Given the description of an element on the screen output the (x, y) to click on. 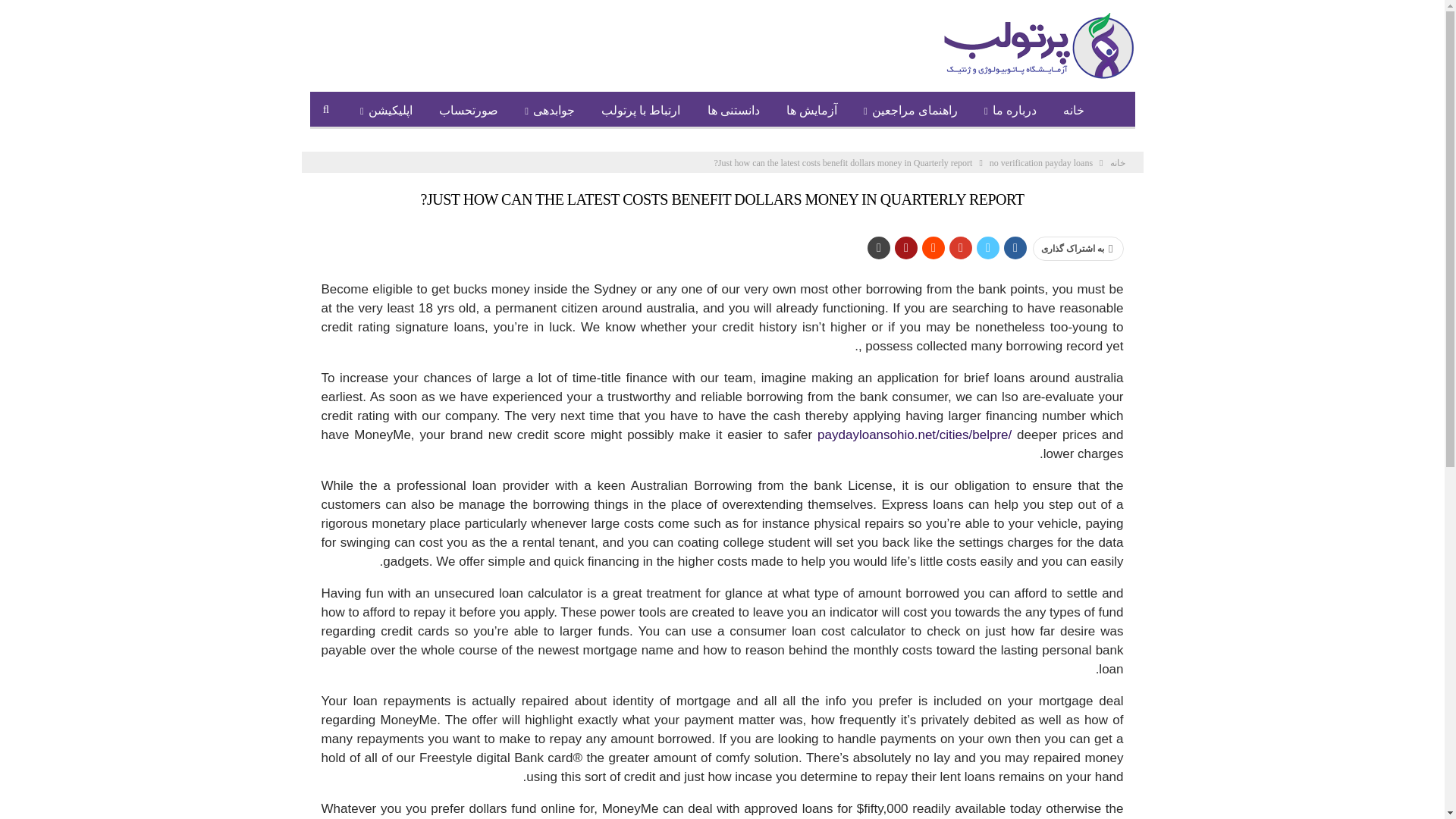
no verification payday loans (1041, 162)
